Given the description of an element on the screen output the (x, y) to click on. 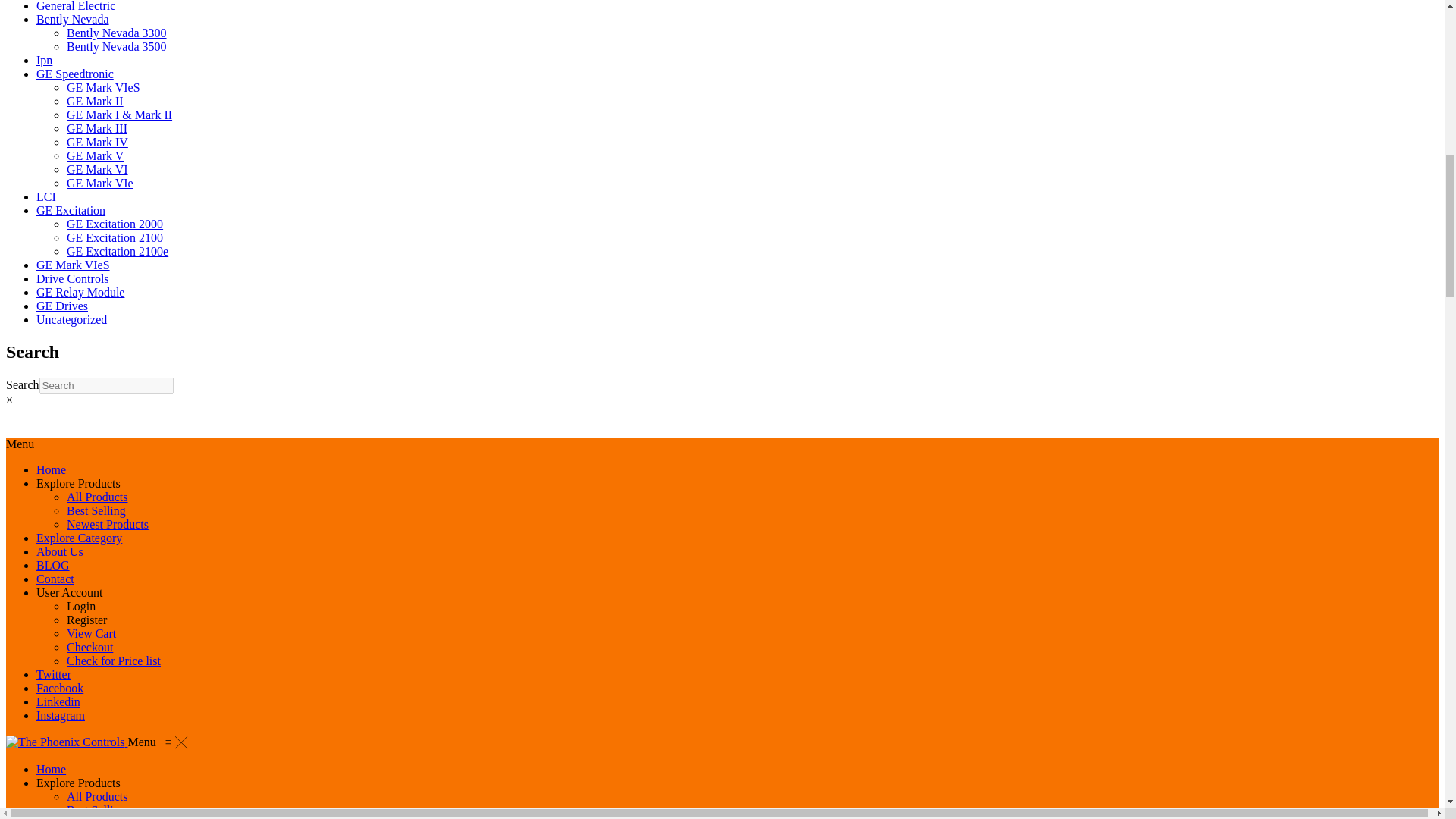
Ipn (44, 60)
The Phoenix Controls (66, 741)
Bently Nevada (72, 19)
Bently Nevada 3500 (116, 46)
General Electric (75, 6)
Bently Nevada 3300 (116, 32)
